Given the description of an element on the screen output the (x, y) to click on. 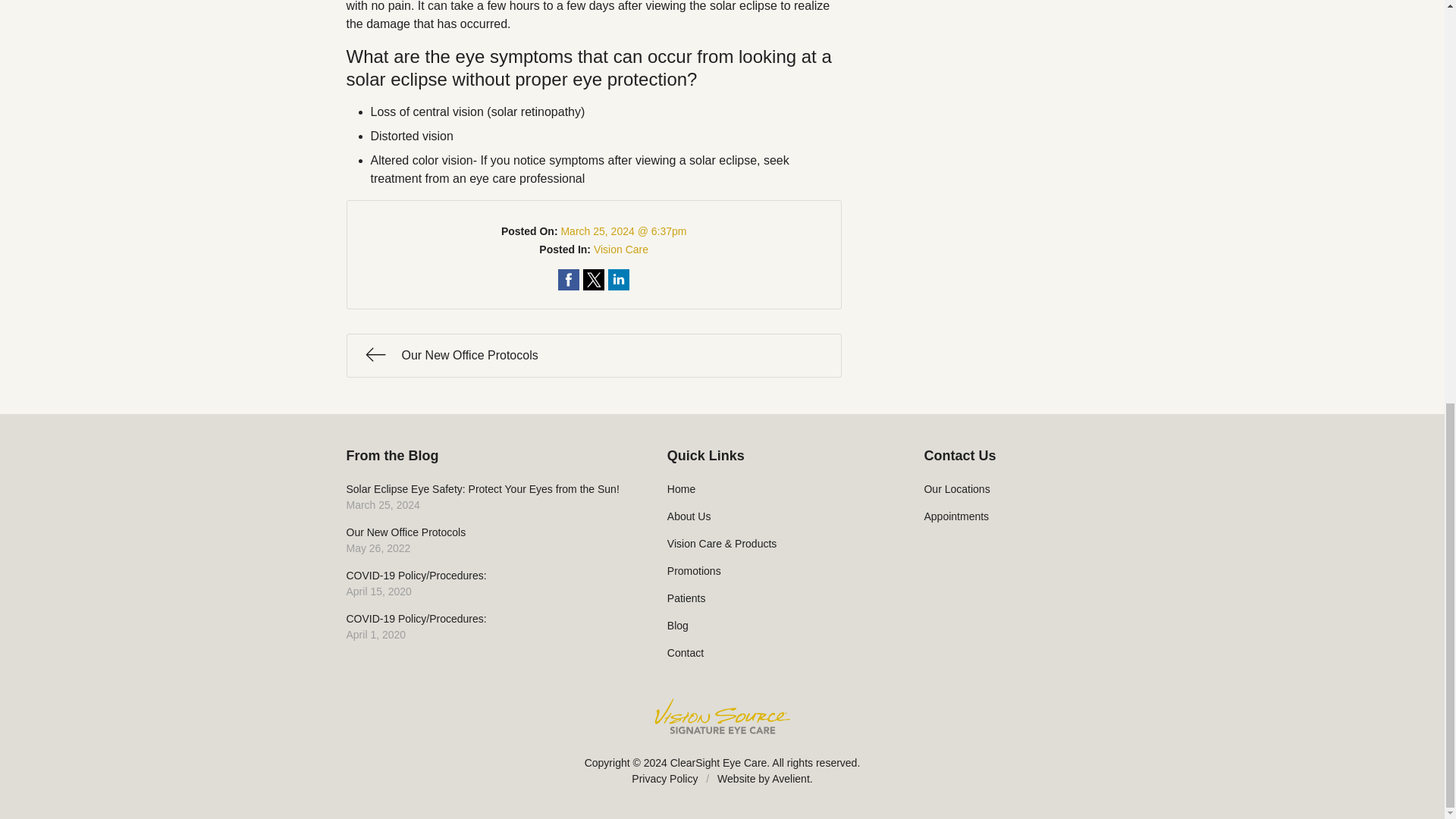
Home (775, 488)
Share on LinkedIn (618, 279)
Share on Facebook (568, 279)
About Us (775, 516)
Our New Office Protocols (593, 355)
Promotions (775, 570)
Powered by Avelient (790, 778)
Share on Facebook (485, 540)
Vision Care (568, 279)
Share on Twitter (620, 249)
Share on Twitter (593, 279)
Share on LinkedIn (593, 279)
